Given the description of an element on the screen output the (x, y) to click on. 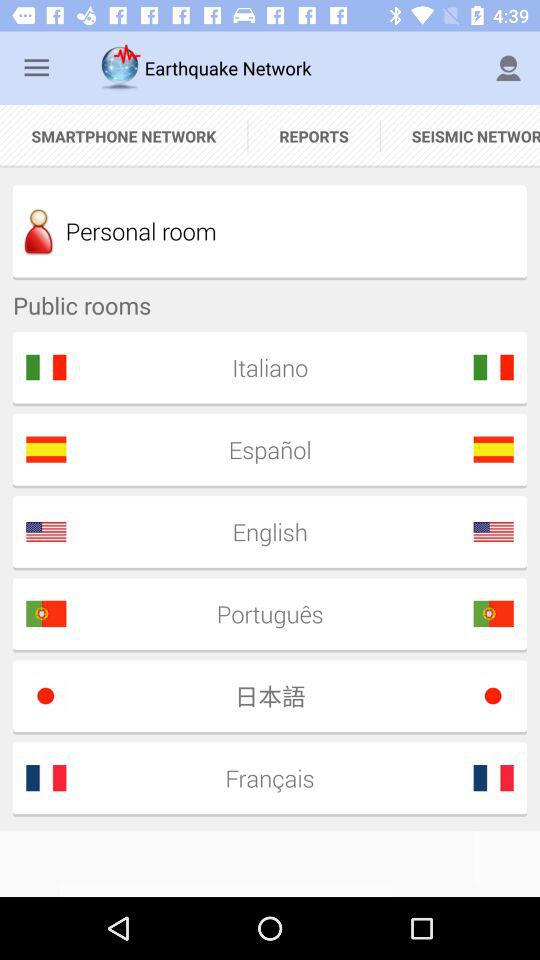
click italiano item (263, 367)
